Given the description of an element on the screen output the (x, y) to click on. 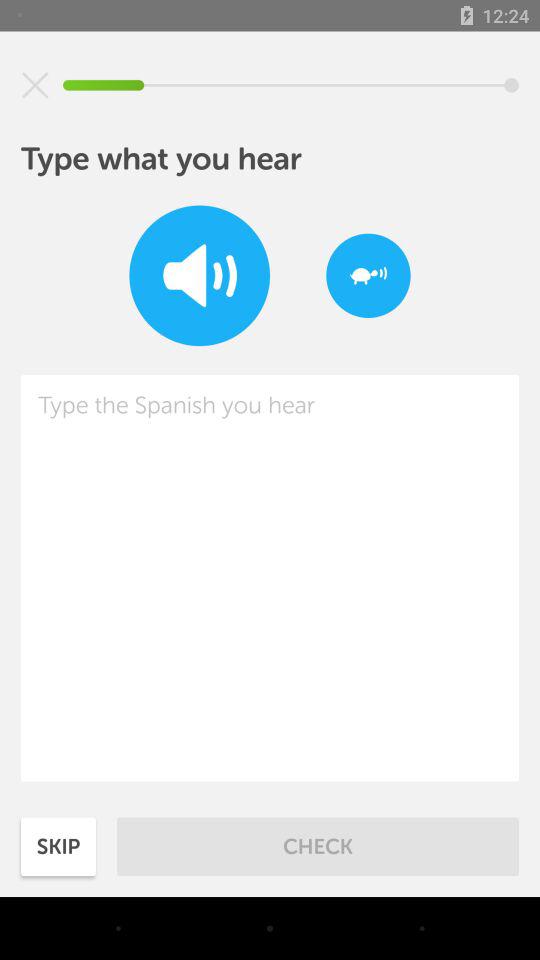
input text (270, 578)
